Given the description of an element on the screen output the (x, y) to click on. 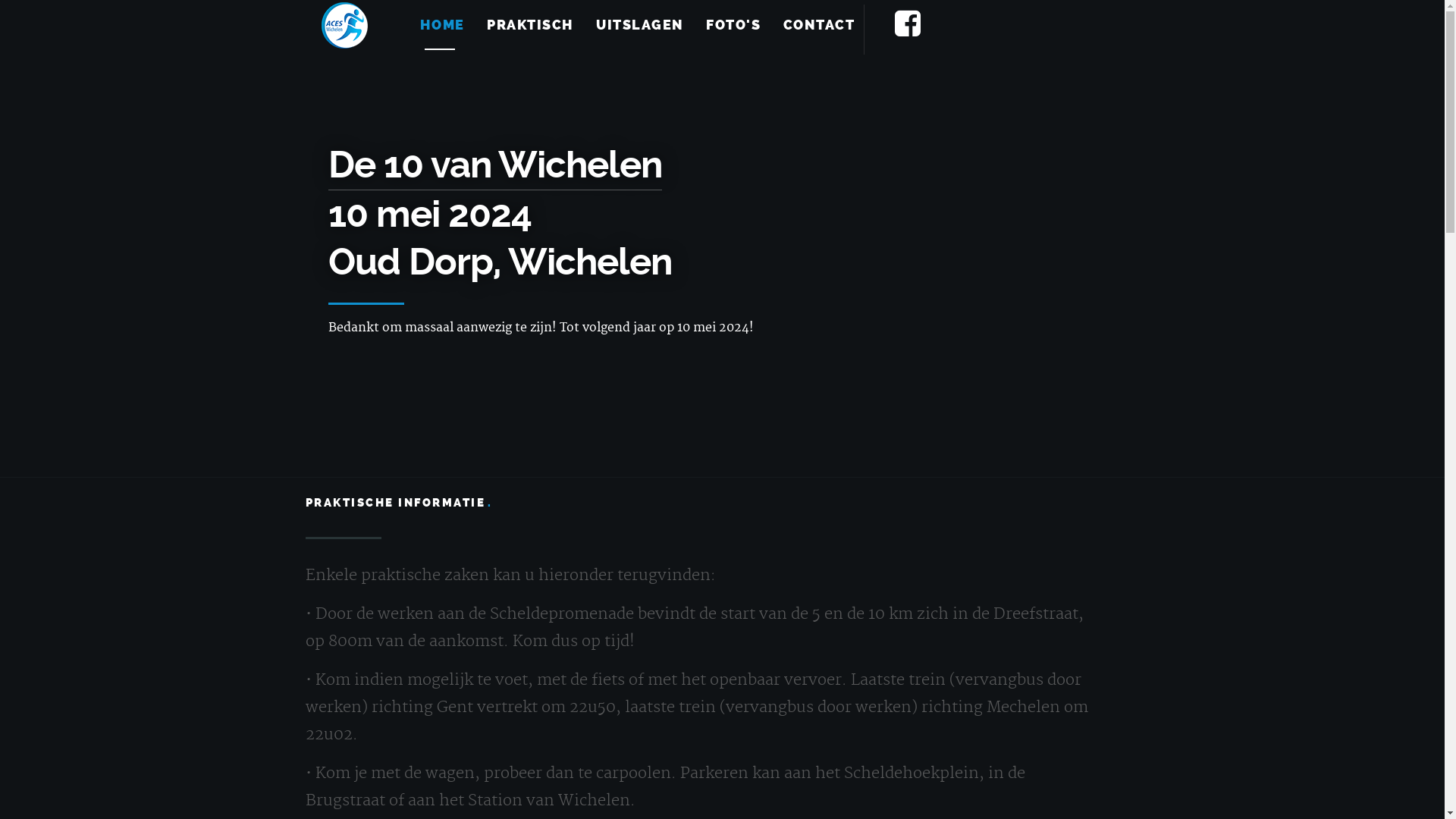
FOTO'S Element type: text (732, 25)
HOME Element type: text (442, 25)
CONTACT Element type: text (818, 25)
UITSLAGEN Element type: text (639, 25)
ACES Wichelen Element type: text (344, 25)
PRAKTISCH Element type: text (530, 25)
